Given the description of an element on the screen output the (x, y) to click on. 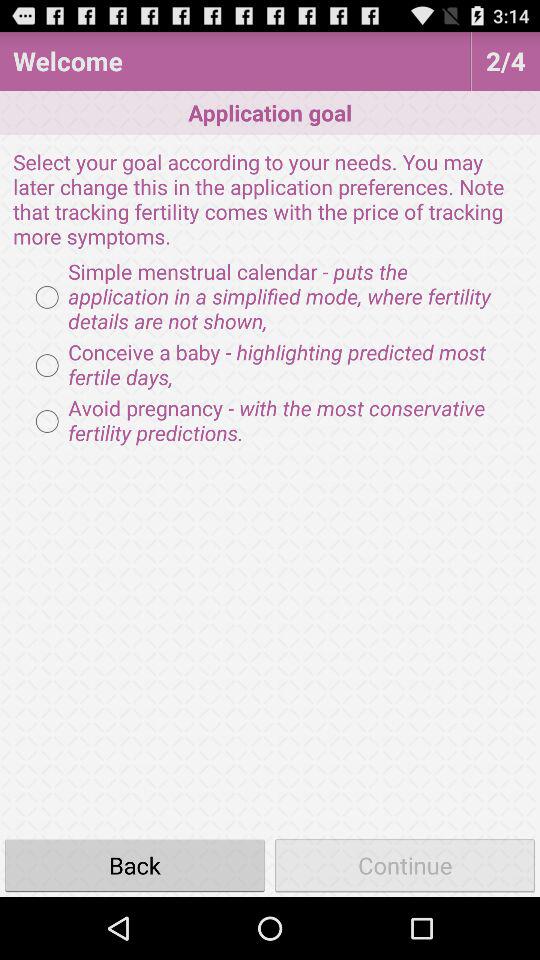
turn on item above the conceive a baby radio button (269, 297)
